Given the description of an element on the screen output the (x, y) to click on. 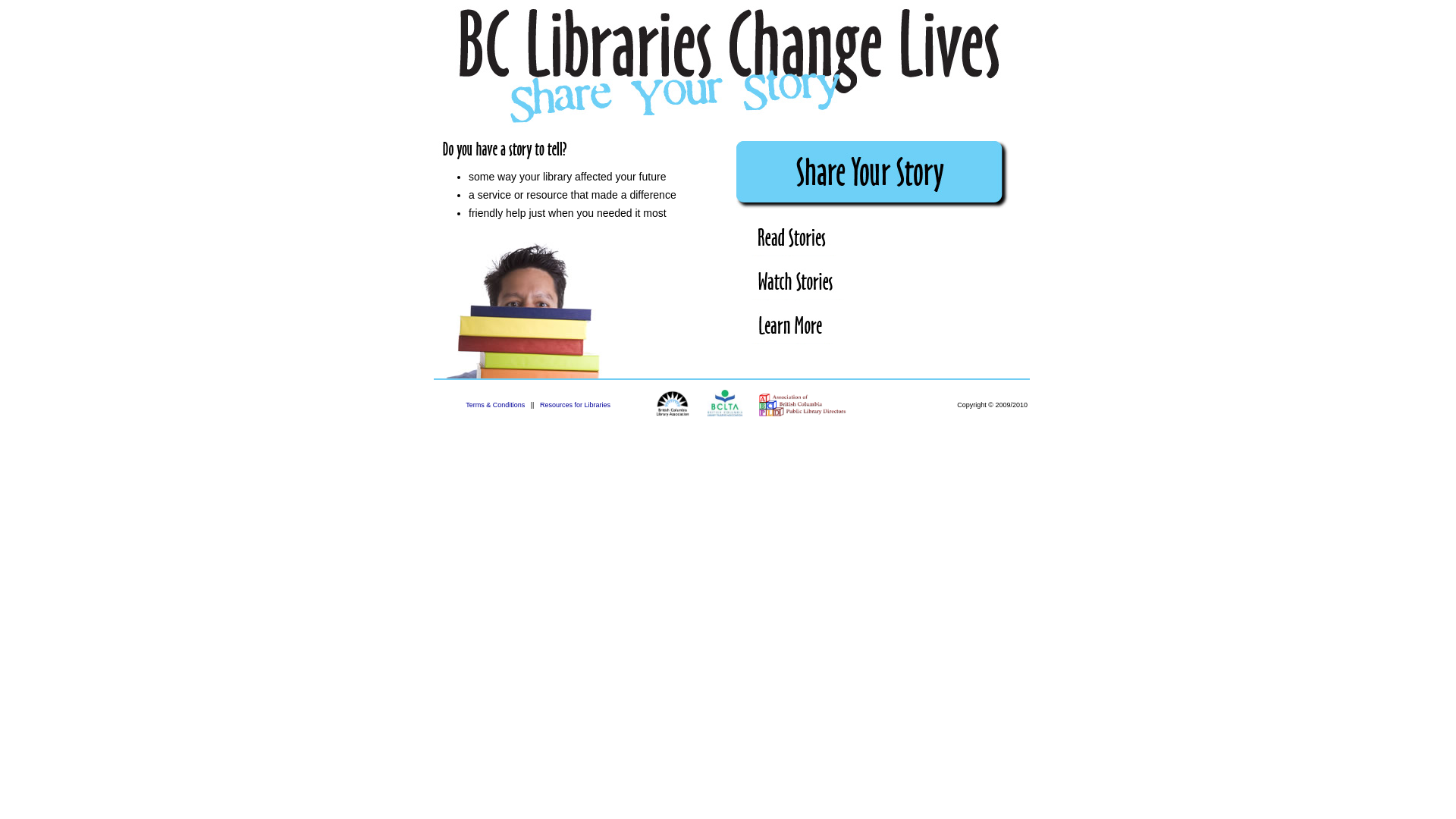
Watch Stories Element type: hover (797, 284)
Resources for Libraries Element type: text (574, 404)
Read Stories Element type: hover (794, 240)
Learn More Element type: hover (792, 328)
Terms & Conditions Element type: text (494, 404)
